Given the description of an element on the screen output the (x, y) to click on. 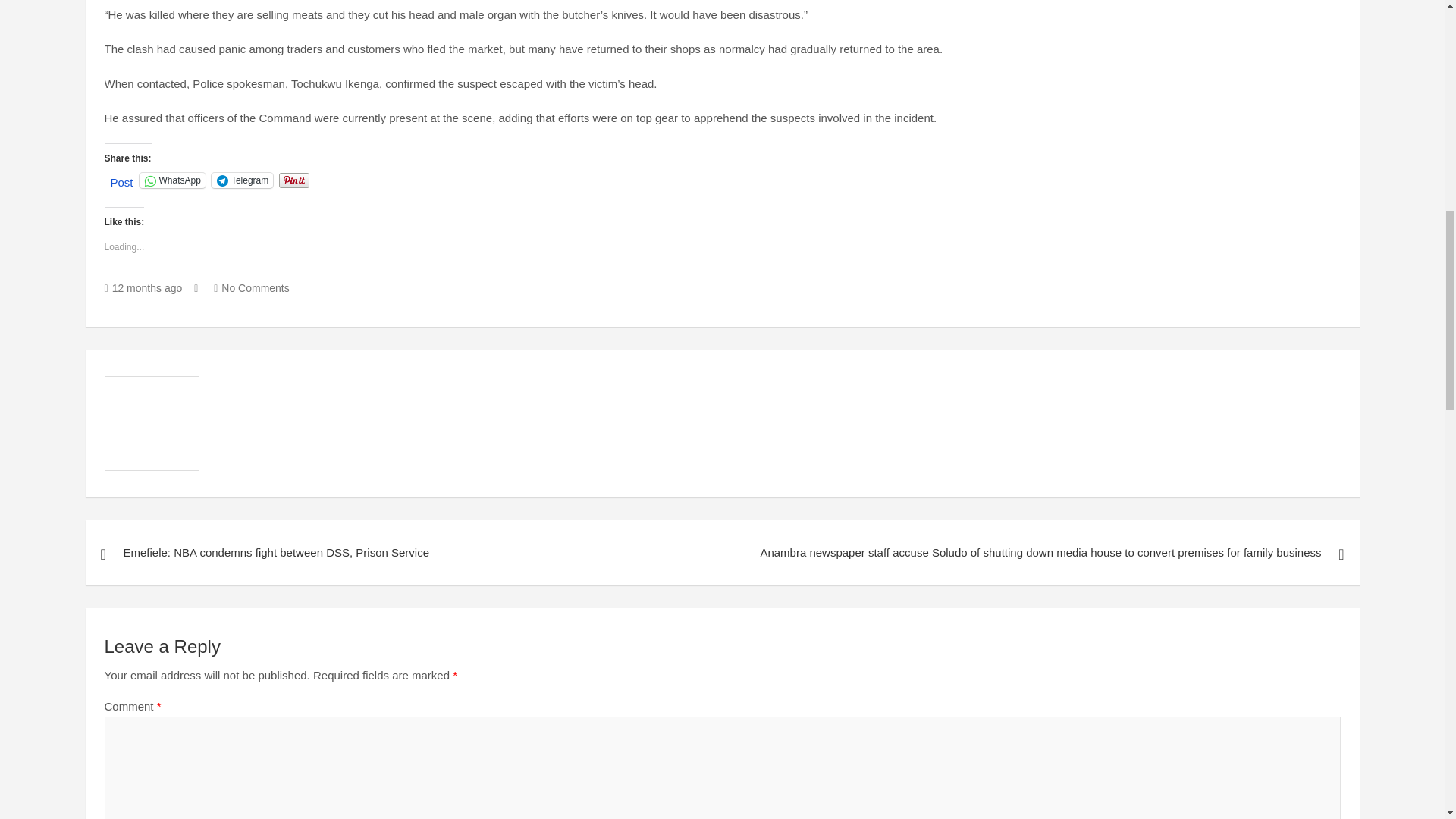
Click to share on Telegram (242, 180)
BREAKING: Man beheaded, organ cut off in Anambra cult clash (143, 287)
Click to share on WhatsApp (172, 180)
